Given the description of an element on the screen output the (x, y) to click on. 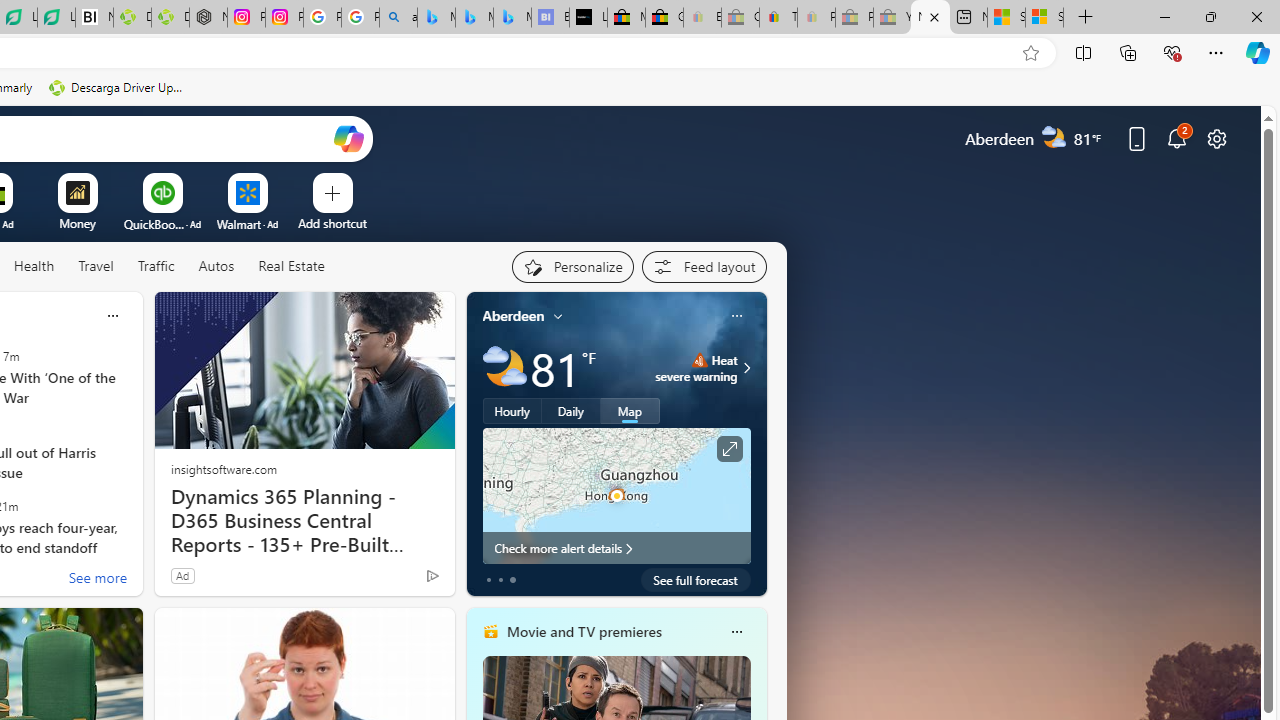
Movie and TV premieres (583, 631)
This story is trending (393, 579)
Microsoft Bing Travel - Flights from Hong Kong to Bangkok (436, 17)
tab-2 (511, 579)
Microsoft Bing Travel - Shangri-La Hotel Bangkok (512, 17)
